Given the description of an element on the screen output the (x, y) to click on. 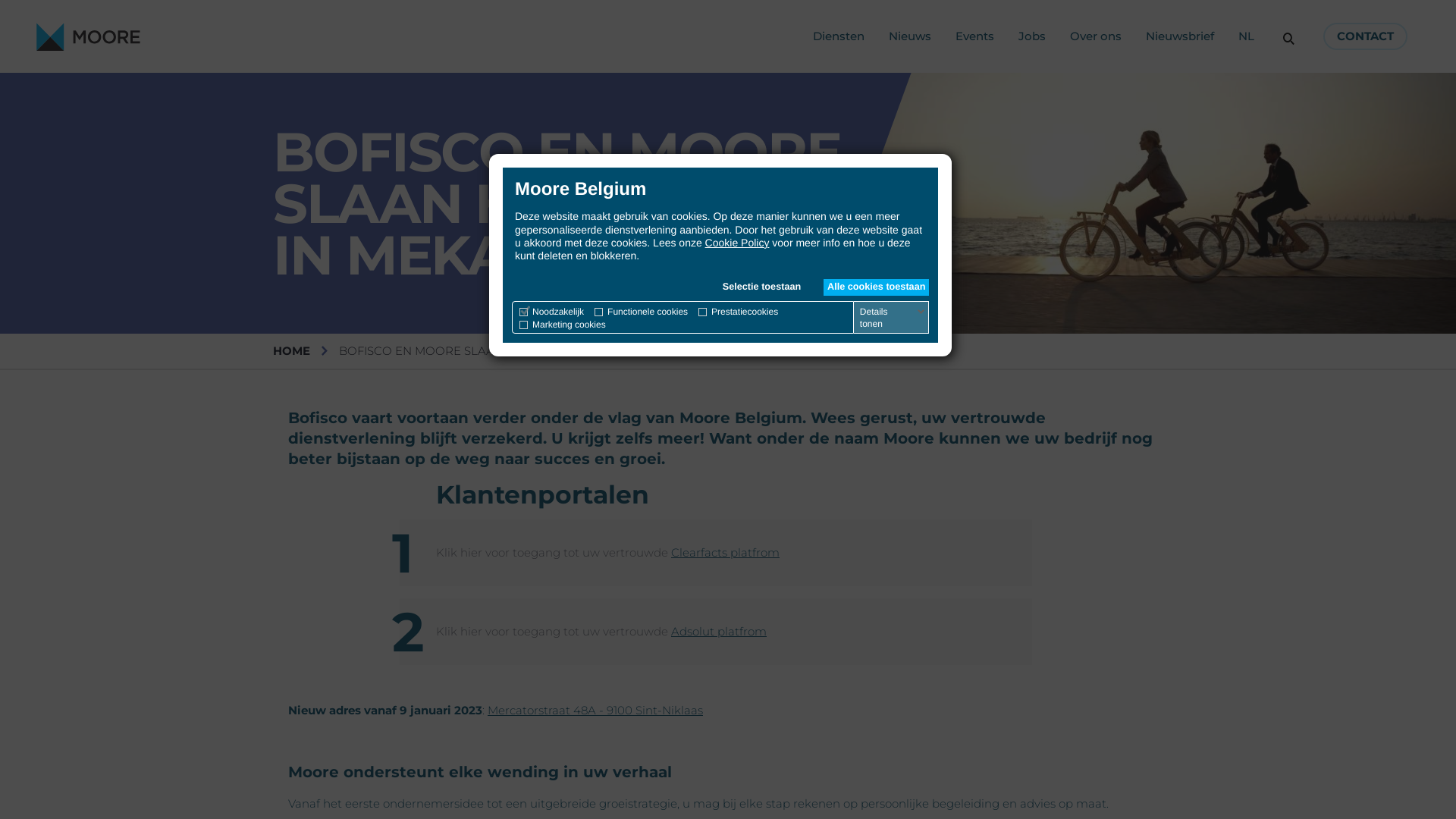
Nieuws Element type: text (909, 36)
Selectie toestaan Element type: text (761, 287)
Alle cookies toestaan Element type: text (875, 287)
Jobs Element type: text (1031, 36)
Details tonen Element type: text (892, 317)
Over ons Element type: text (1095, 36)
CONTACT Element type: text (1365, 36)
Diensten Element type: text (838, 36)
NL Element type: text (1246, 36)
Clearfacts platfrom Element type: text (725, 552)
Moore Element type: hover (88, 36)
Adsolut platfrom Element type: text (718, 631)
Overslaan en naar de inhoud gaan Element type: text (0, 0)
HOME Element type: text (291, 350)
Cookie Policy Element type: text (737, 242)
Events Element type: text (974, 36)
Nieuwsbrief Element type: text (1179, 36)
Mercatorstraat 48A - 9100 Sint-Niklaas Element type: text (594, 709)
